Given the description of an element on the screen output the (x, y) to click on. 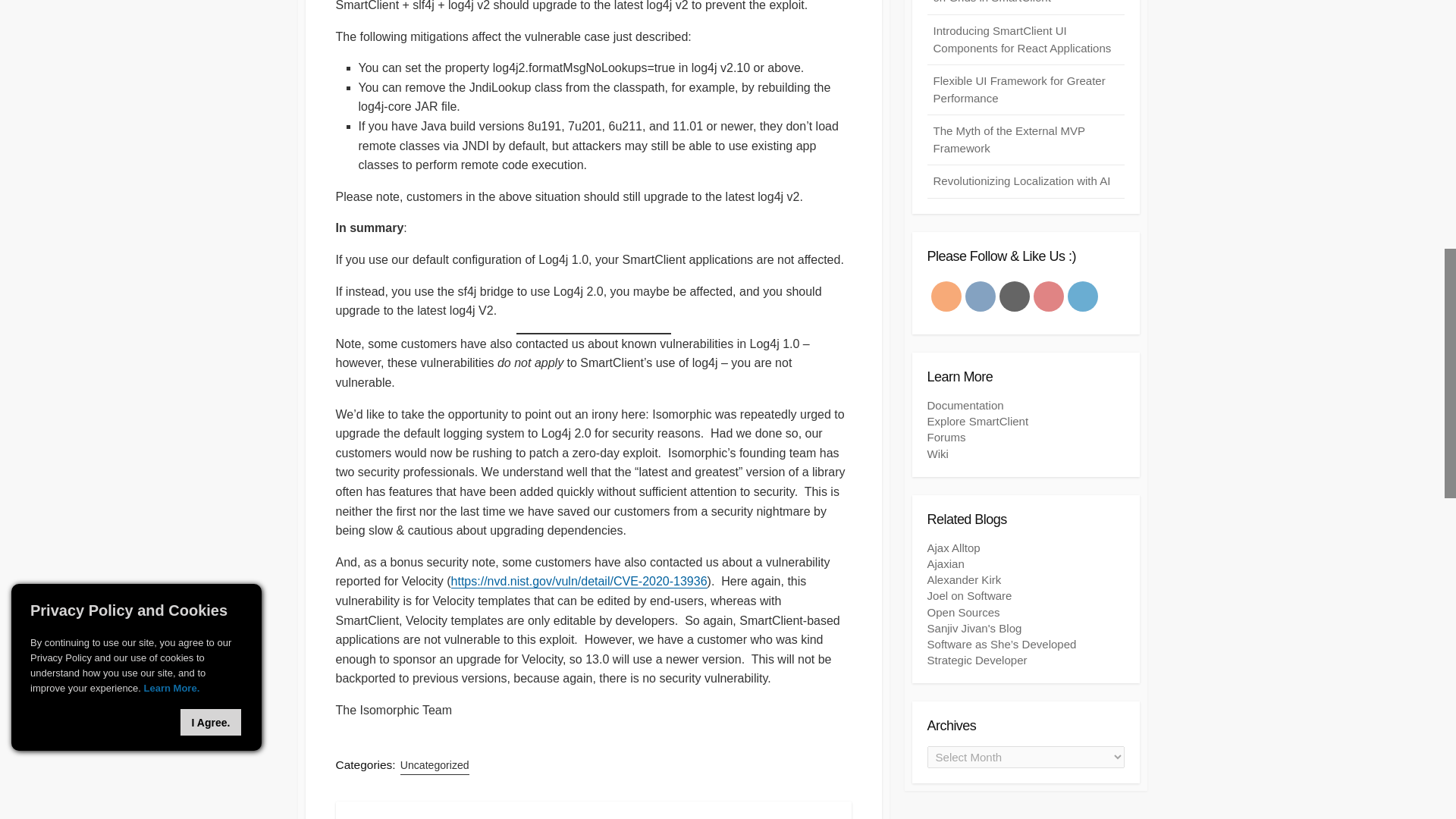
RSS (945, 296)
LinkedIn (1082, 296)
Twitter (1014, 296)
YouTube (1049, 296)
Facebook (980, 296)
